Given the description of an element on the screen output the (x, y) to click on. 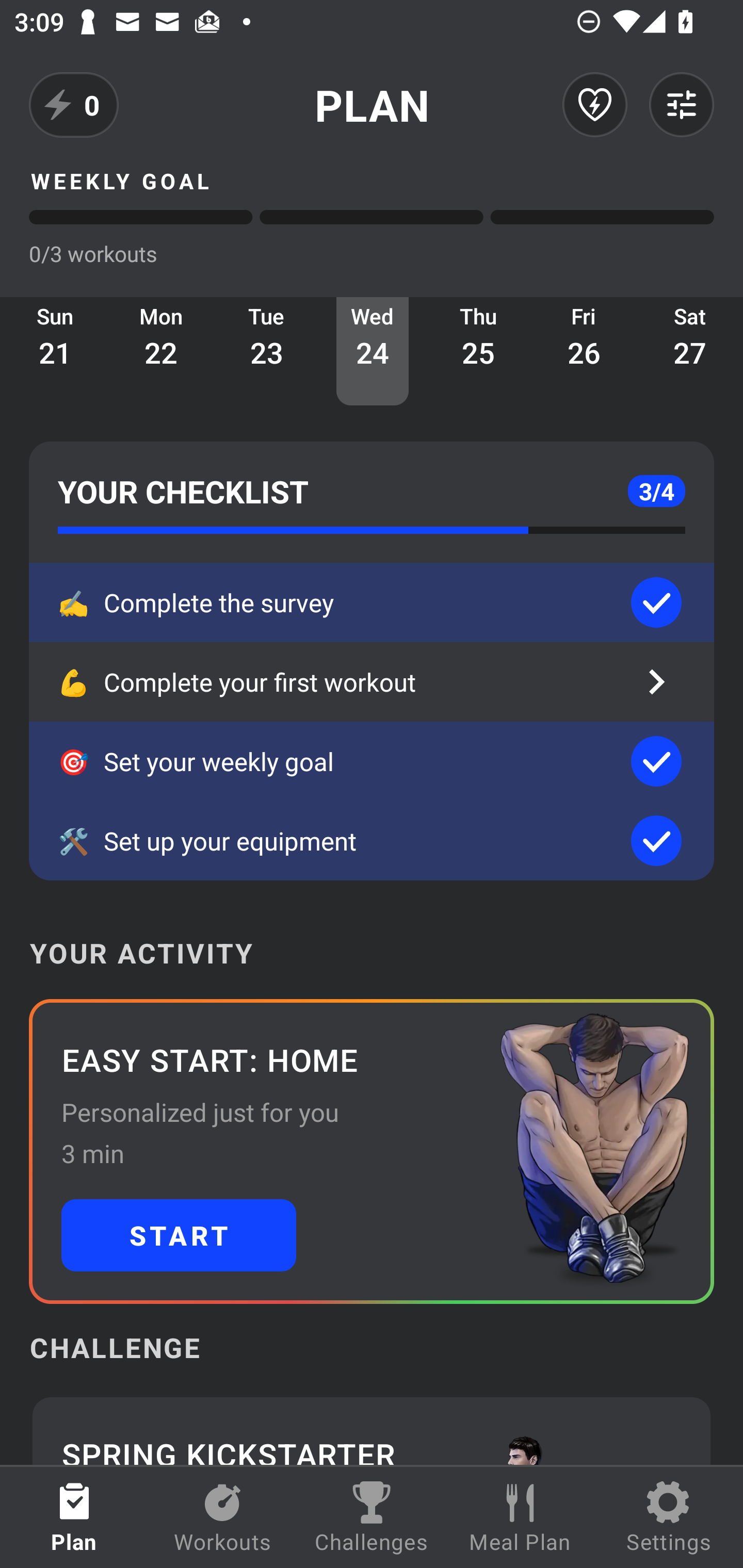
0 (73, 104)
Sun 21 (55, 351)
Mon 22 (160, 351)
Tue 23 (266, 351)
Wed 24 (372, 351)
Thu 25 (478, 351)
Fri 26 (584, 351)
Sat 27 (690, 351)
💪 Complete your first workout (371, 681)
START (178, 1235)
 Workouts  (222, 1517)
 Challenges  (371, 1517)
 Meal Plan  (519, 1517)
 Settings  (668, 1517)
